Given the description of an element on the screen output the (x, y) to click on. 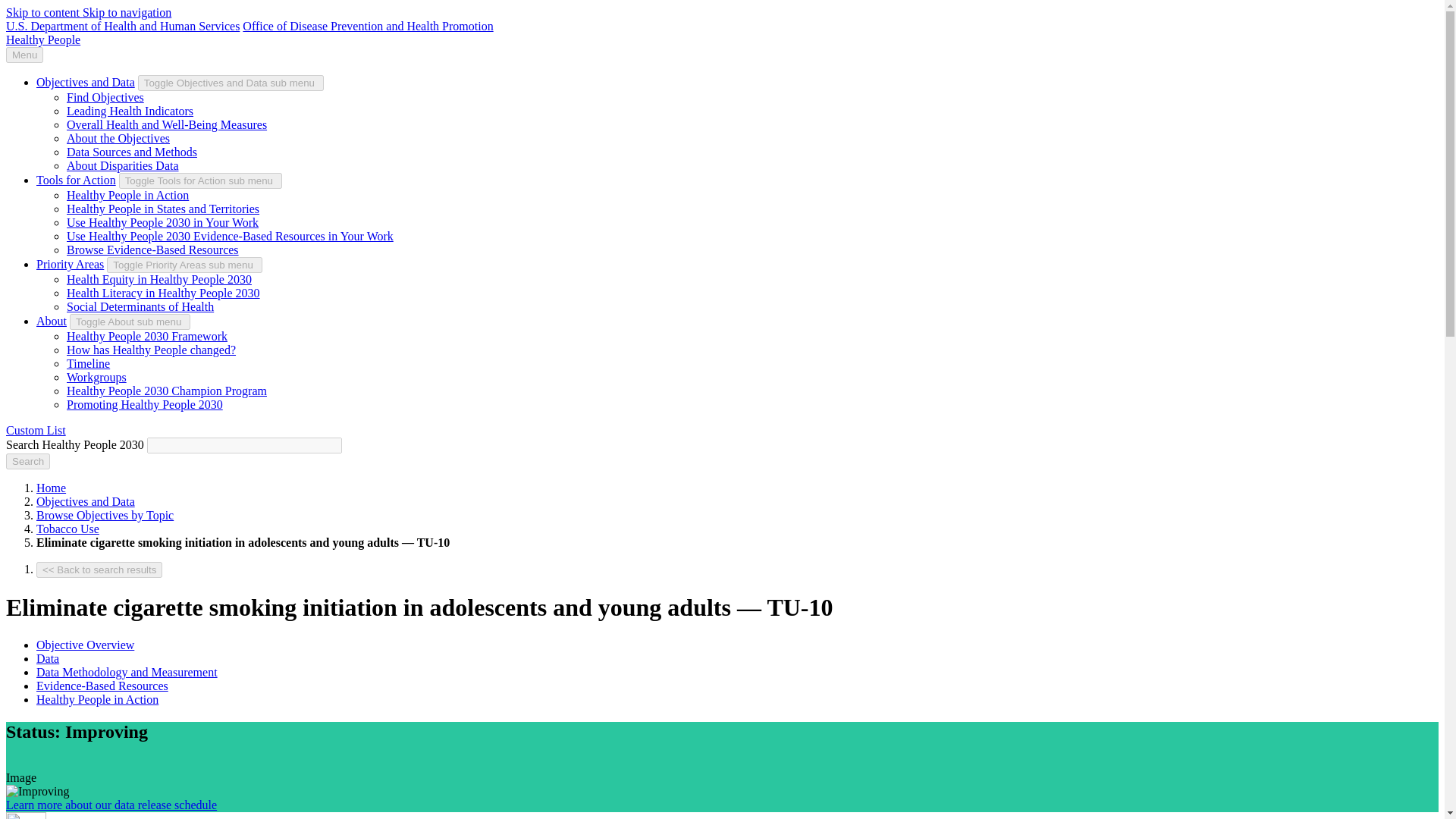
Workgroups (96, 377)
Toggle Priority Areas sub menu  (184, 264)
Tools for Action (76, 179)
Promoting Healthy People 2030 (144, 404)
How has Healthy People changed? (150, 349)
Search (27, 461)
Skip to navigation (126, 11)
Healthy People in Action (127, 195)
Overall Health and Well-Being Measures (166, 124)
About (51, 320)
